Given the description of an element on the screen output the (x, y) to click on. 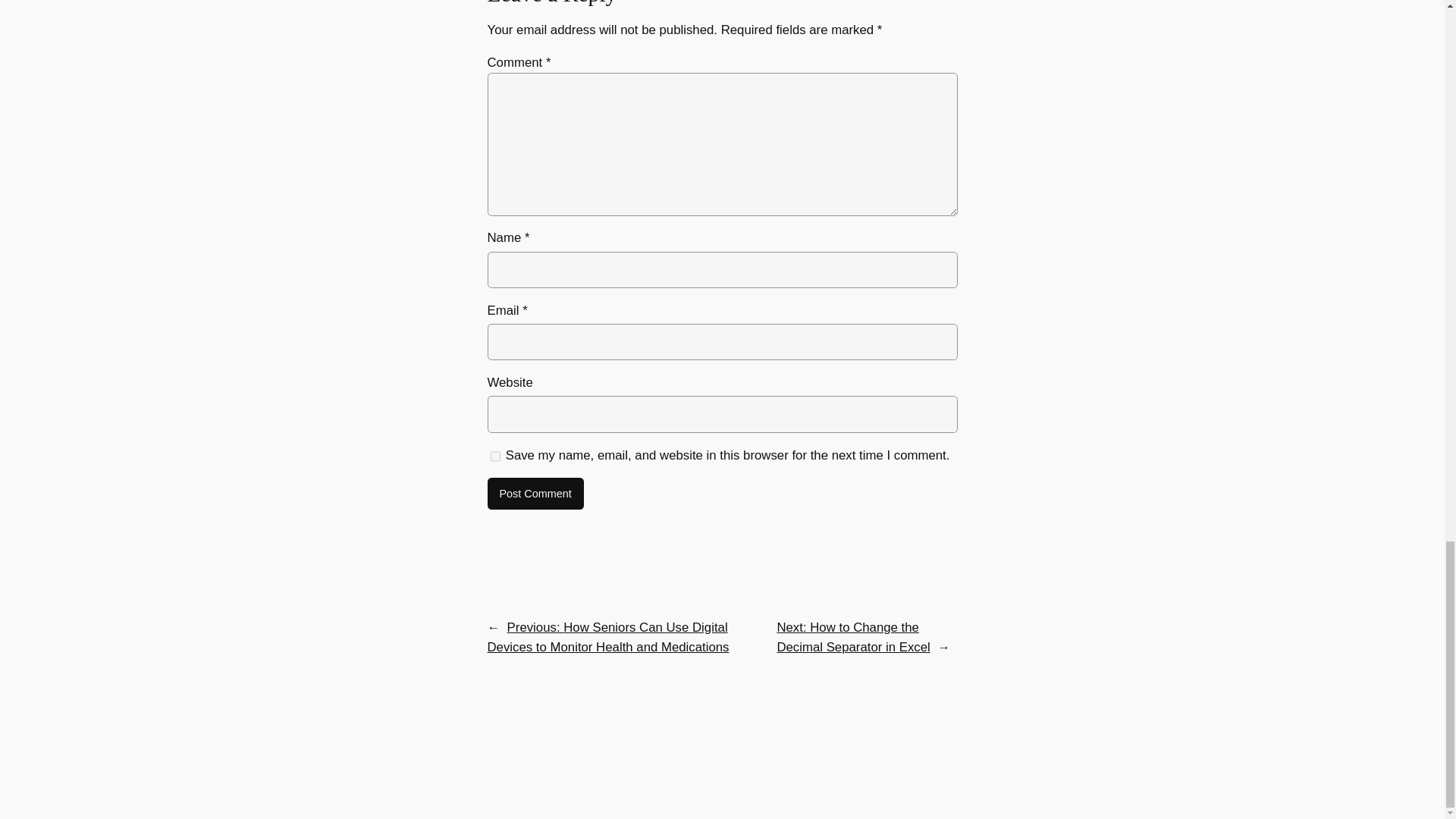
Post Comment (534, 493)
Post Comment (534, 493)
Next: How to Change the Decimal Separator in Excel (853, 636)
